Given the description of an element on the screen output the (x, y) to click on. 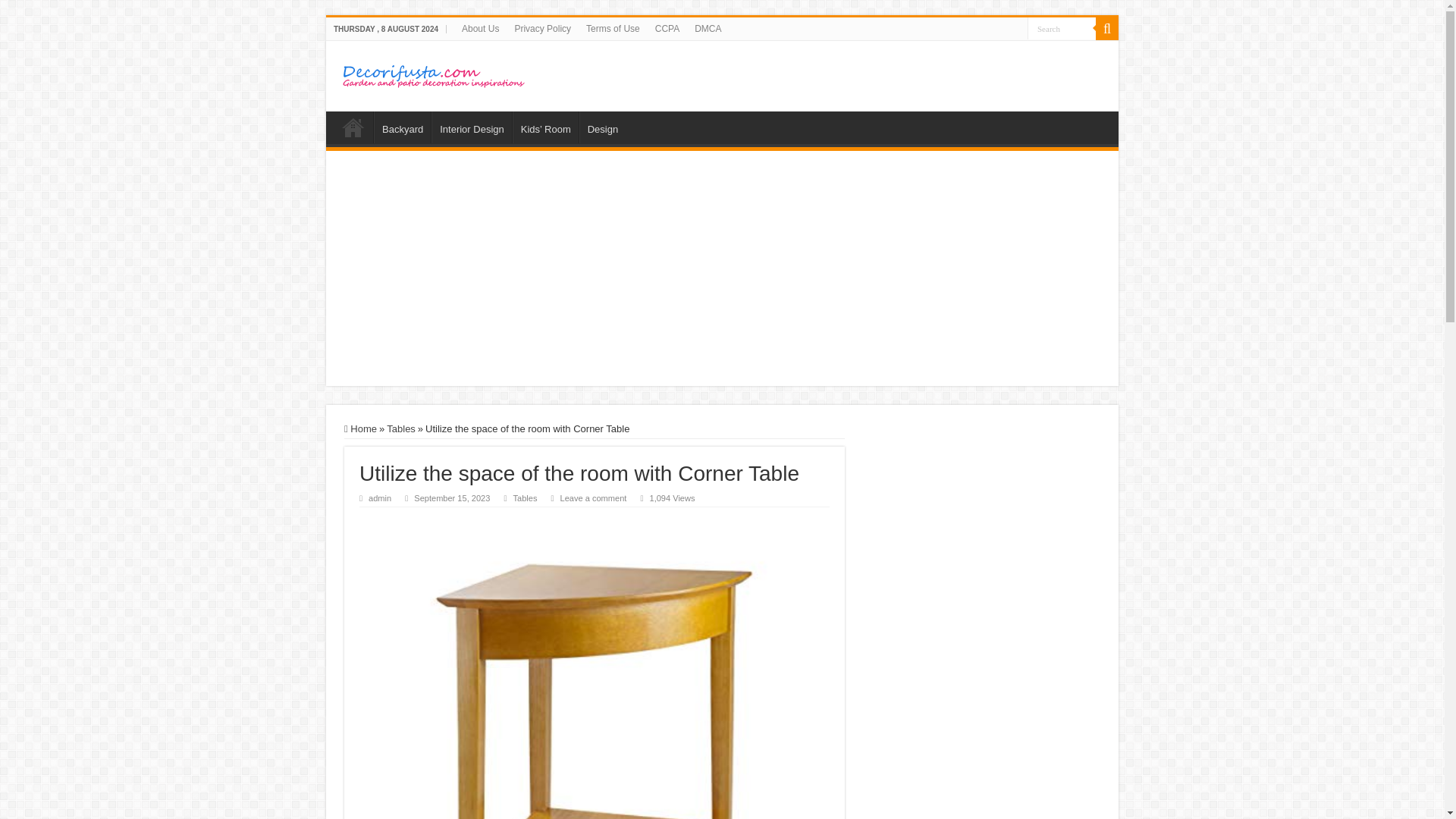
Search (1061, 28)
Terms of Use (612, 28)
Tables (524, 497)
Search (1061, 28)
About Us (480, 28)
Leave a comment (593, 497)
Interior Design (471, 127)
Design (602, 127)
CCPA (667, 28)
